Given the description of an element on the screen output the (x, y) to click on. 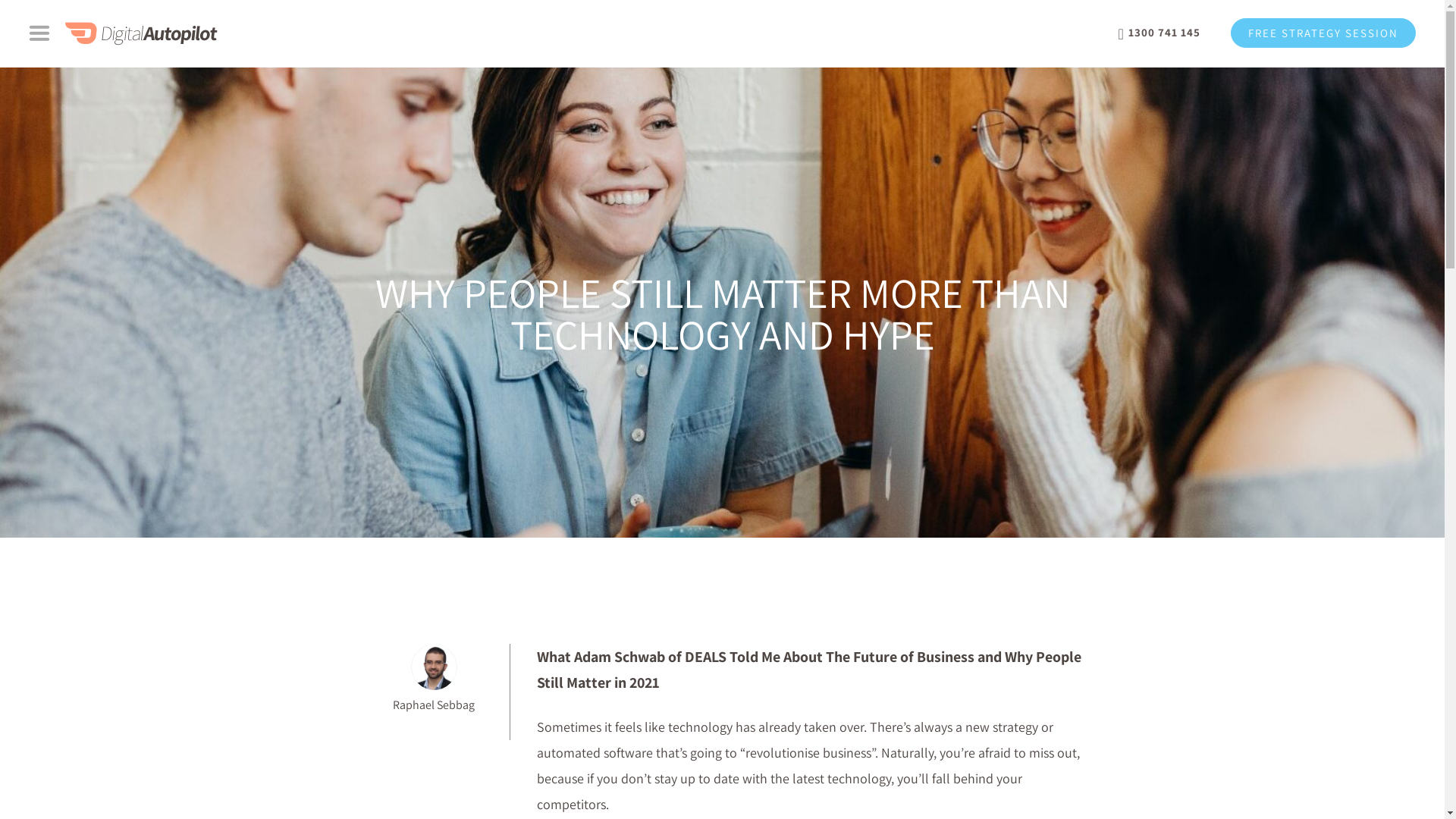
FREE STRATEGY SESSION Element type: text (1322, 32)
1300 741 145 Element type: text (1159, 33)
